Given the description of an element on the screen output the (x, y) to click on. 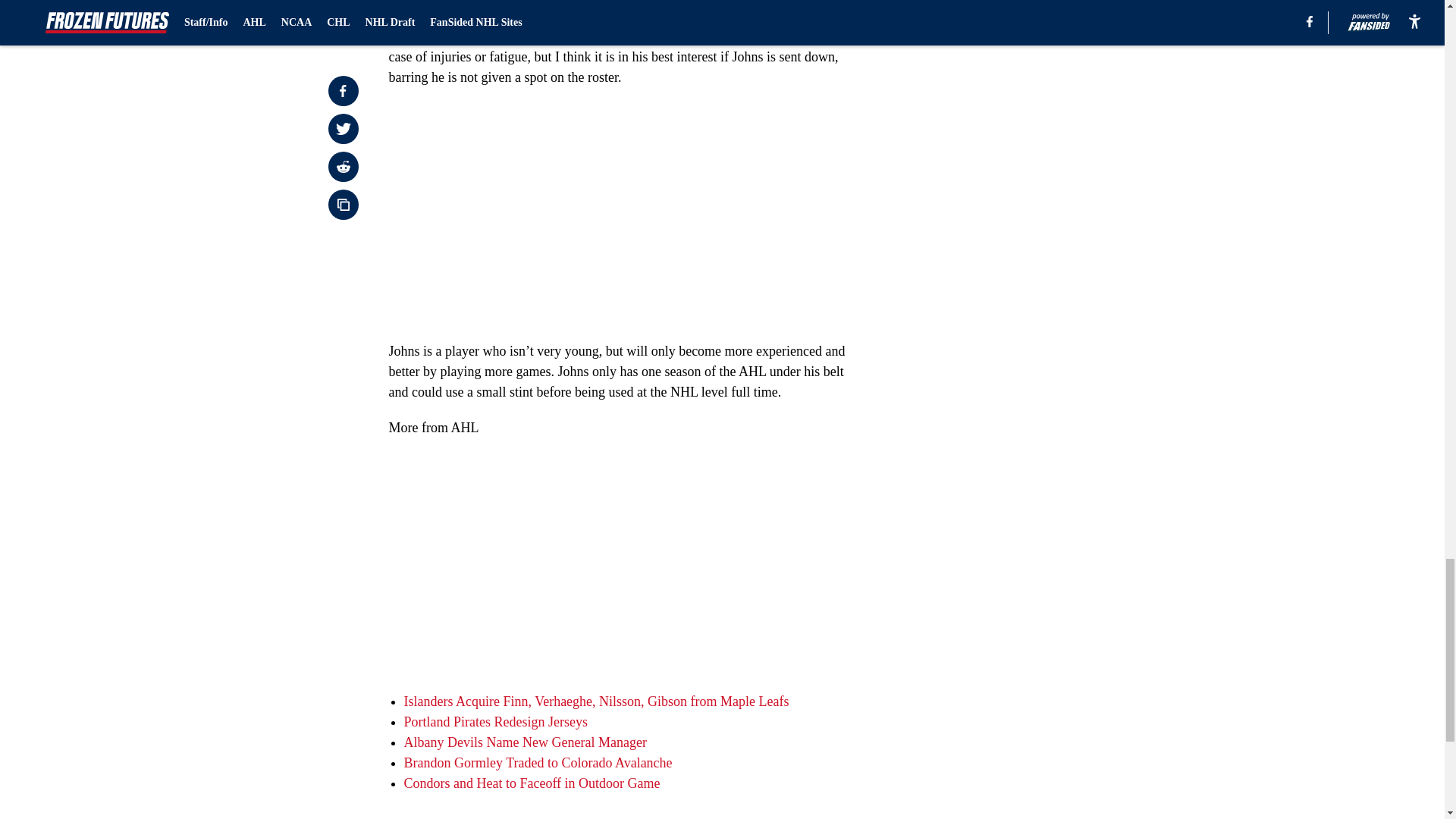
Condors and Heat to Faceoff in Outdoor Game (531, 783)
Albany Devils Name New General Manager (524, 742)
Brandon Gormley Traded to Colorado Avalanche (537, 762)
Portland Pirates Redesign Jerseys (494, 721)
